Given the description of an element on the screen output the (x, y) to click on. 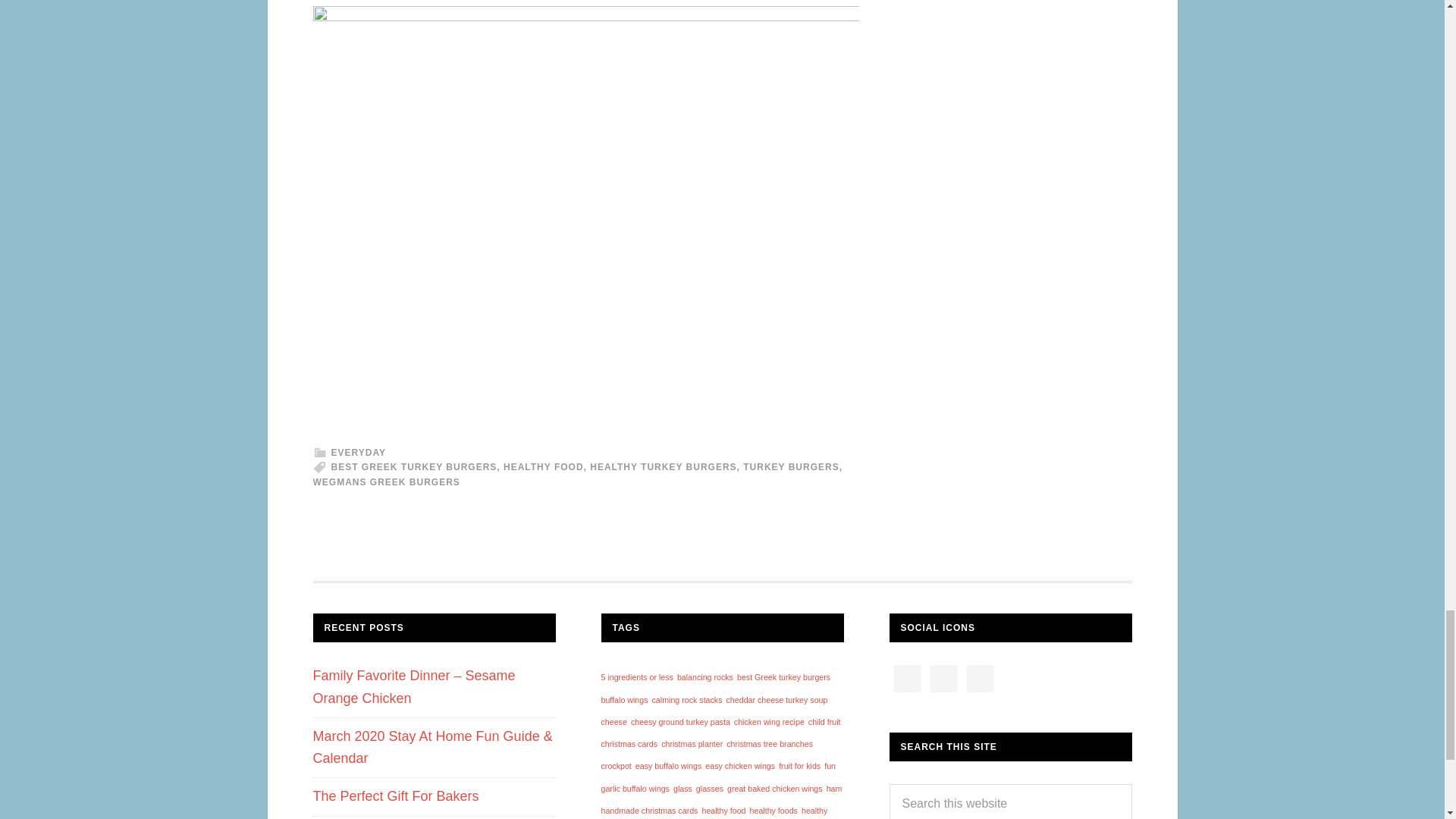
HEALTHY TURKEY BURGERS (662, 466)
TURKEY BURGERS (790, 466)
WEGMANS GREEK BURGERS (386, 481)
EVERYDAY (357, 452)
BEST GREEK TURKEY BURGERS (413, 466)
HEALTHY FOOD (543, 466)
